Given the description of an element on the screen output the (x, y) to click on. 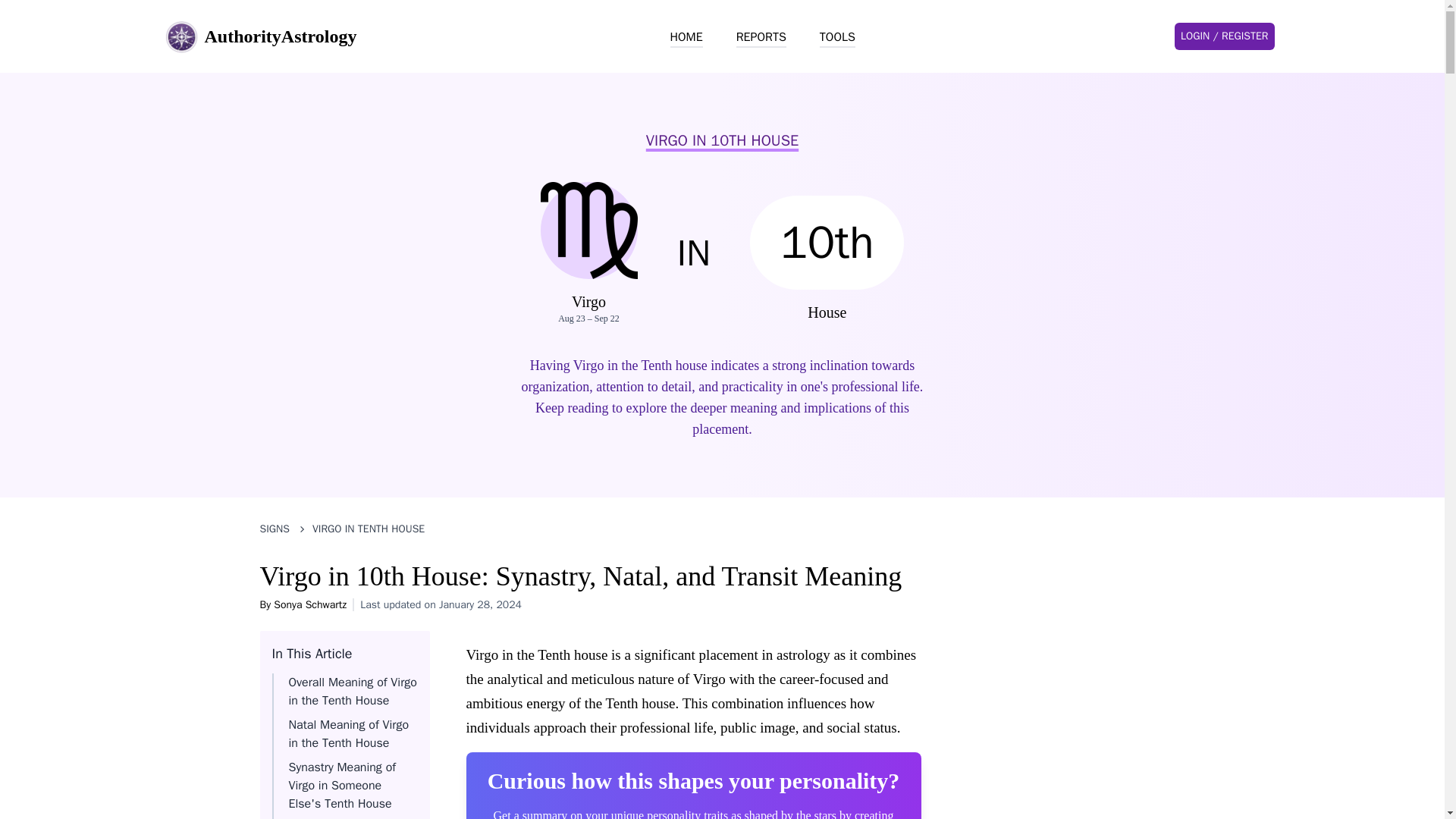
Natal Meaning of Virgo in the Tenth House (348, 734)
Synastry Meaning of Virgo in Someone Else's Tenth House (342, 785)
VIRGO IN TENTH HOUSE (369, 529)
TOOLS (837, 37)
Sonya Schwartz (309, 604)
AuthorityAstrology (259, 36)
HOME (686, 37)
REPORTS (761, 37)
Overall Meaning of Virgo in the Tenth House (352, 691)
